Given the description of an element on the screen output the (x, y) to click on. 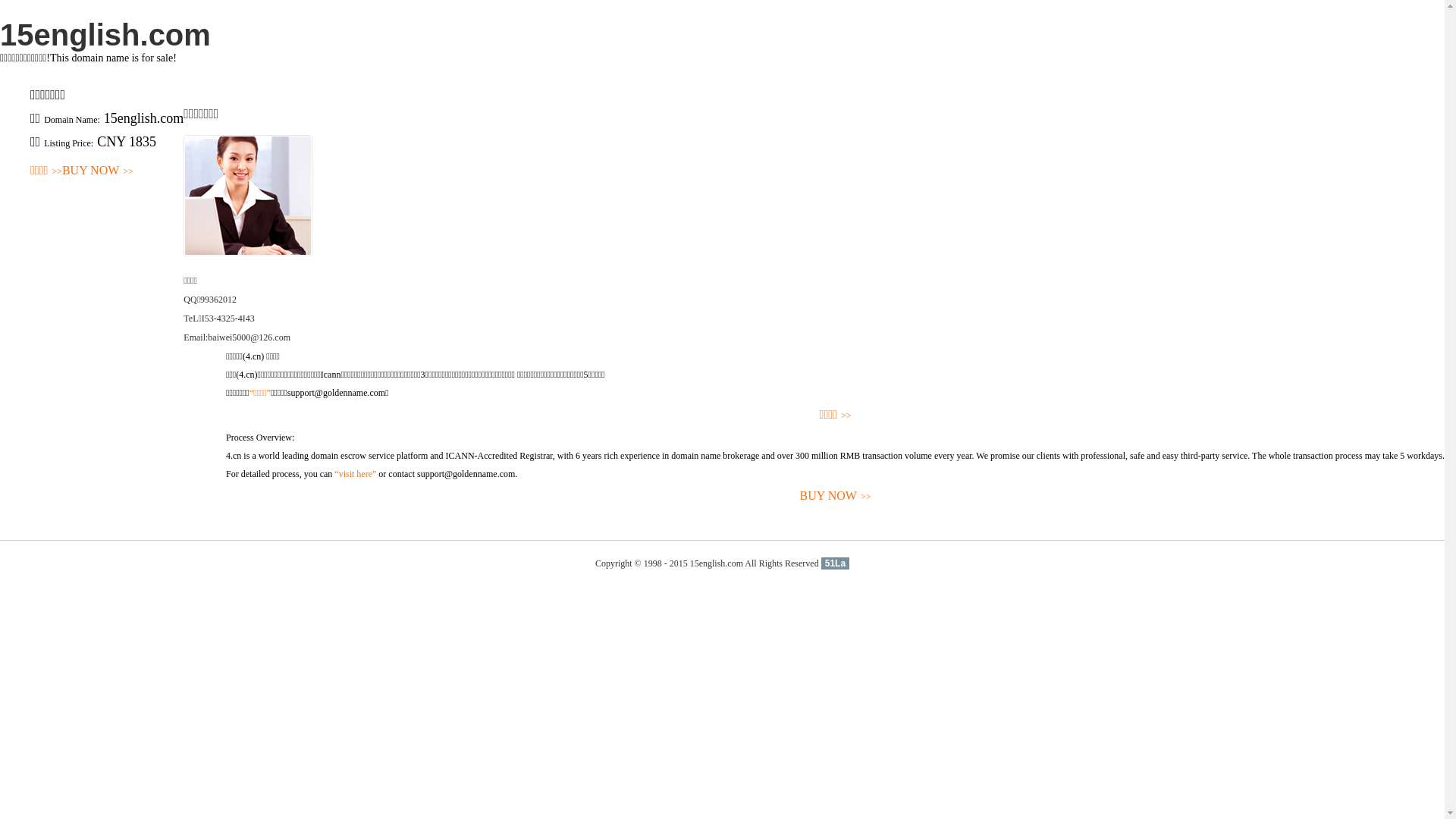
BUY NOW>> Element type: text (834, 496)
51La Element type: text (835, 563)
BUY NOW>> Element type: text (97, 170)
